Given the description of an element on the screen output the (x, y) to click on. 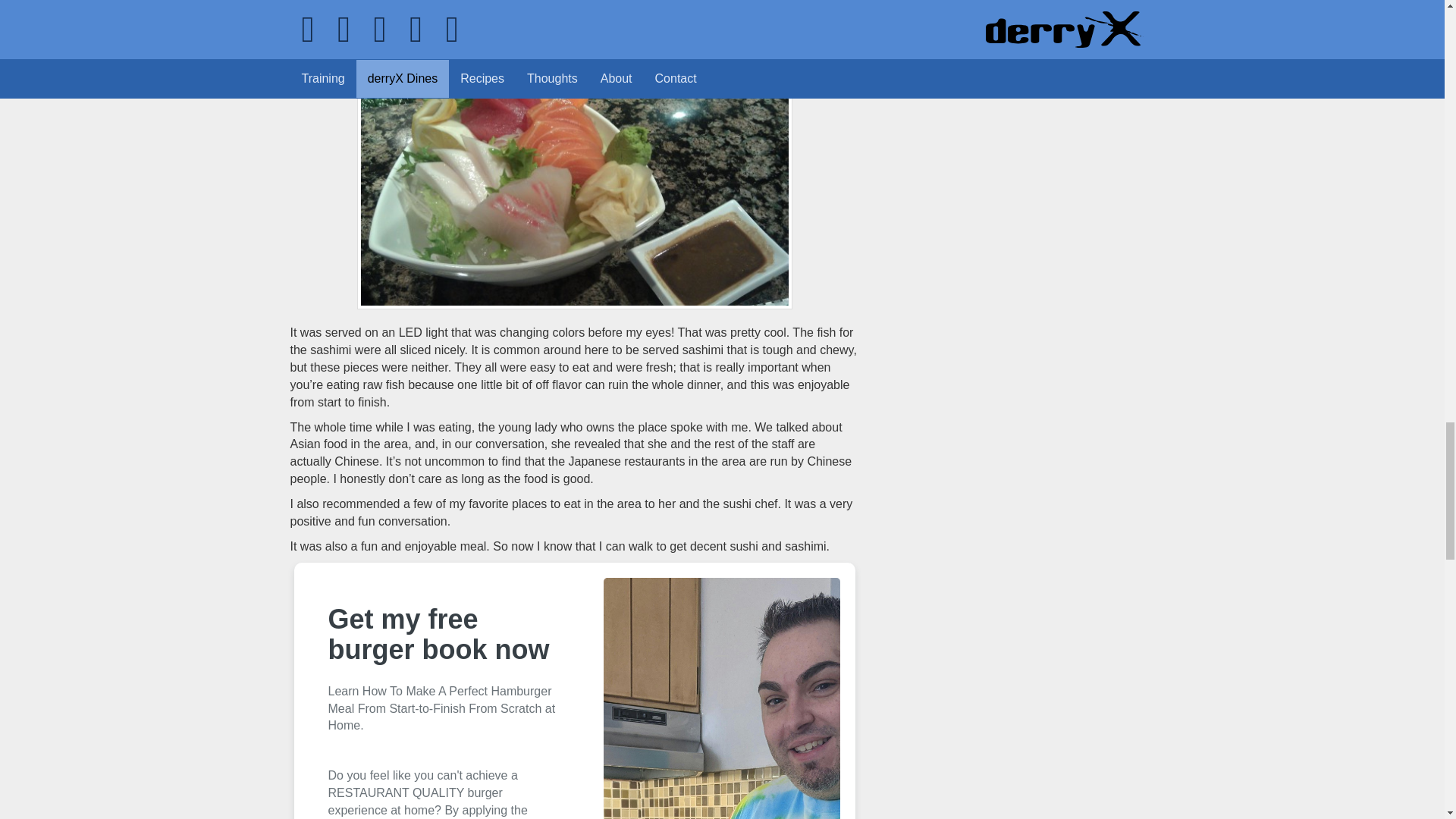
Akanomi sashimi (574, 177)
